Given the description of an element on the screen output the (x, y) to click on. 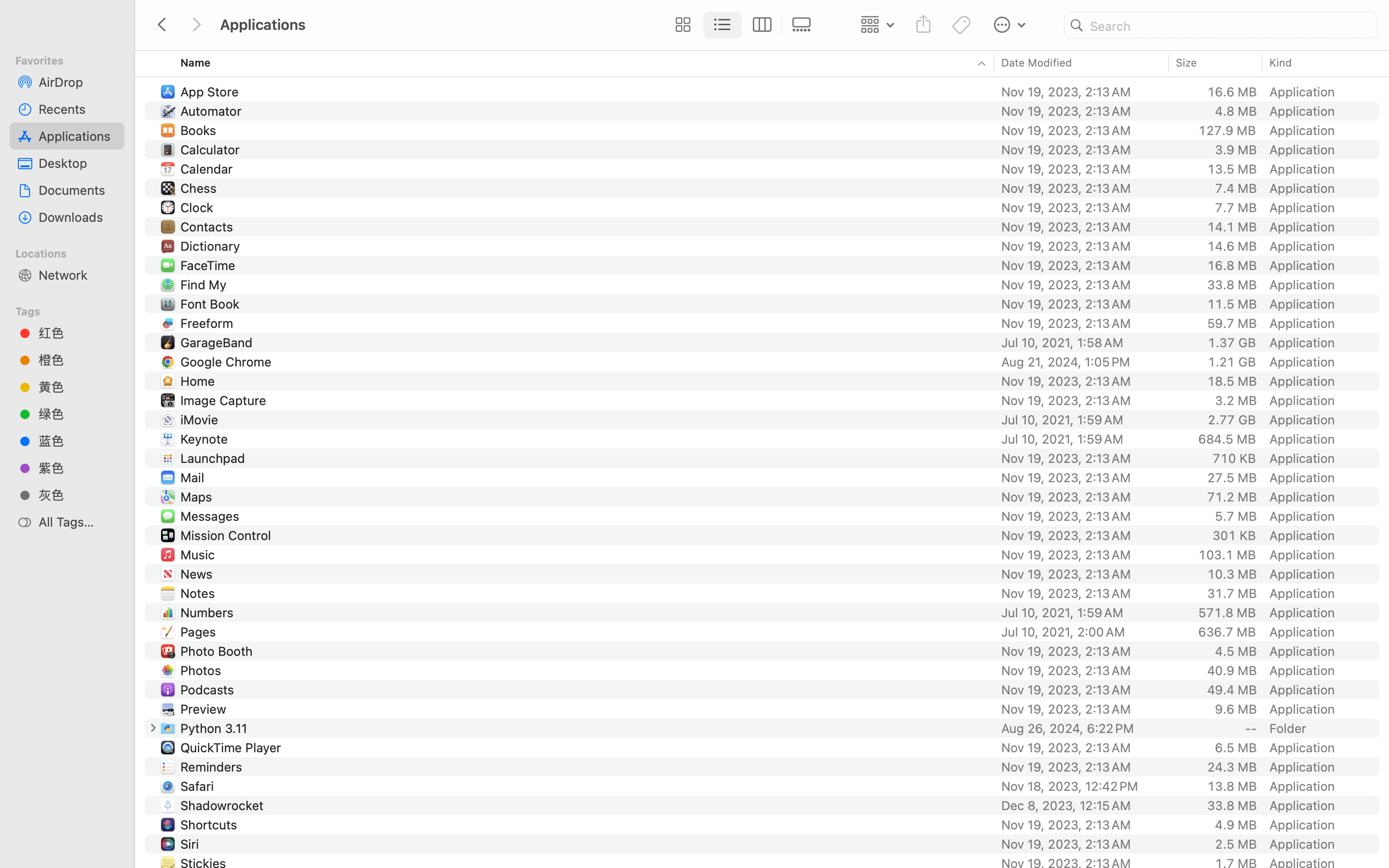
红色 Element type: AXStaticText (77, 332)
Preview Element type: AXTextField (205, 708)
7.7 MB Element type: AXStaticText (1235, 207)
Automator Element type: AXTextField (212, 110)
Google Chrome Element type: AXTextField (227, 361)
